Given the description of an element on the screen output the (x, y) to click on. 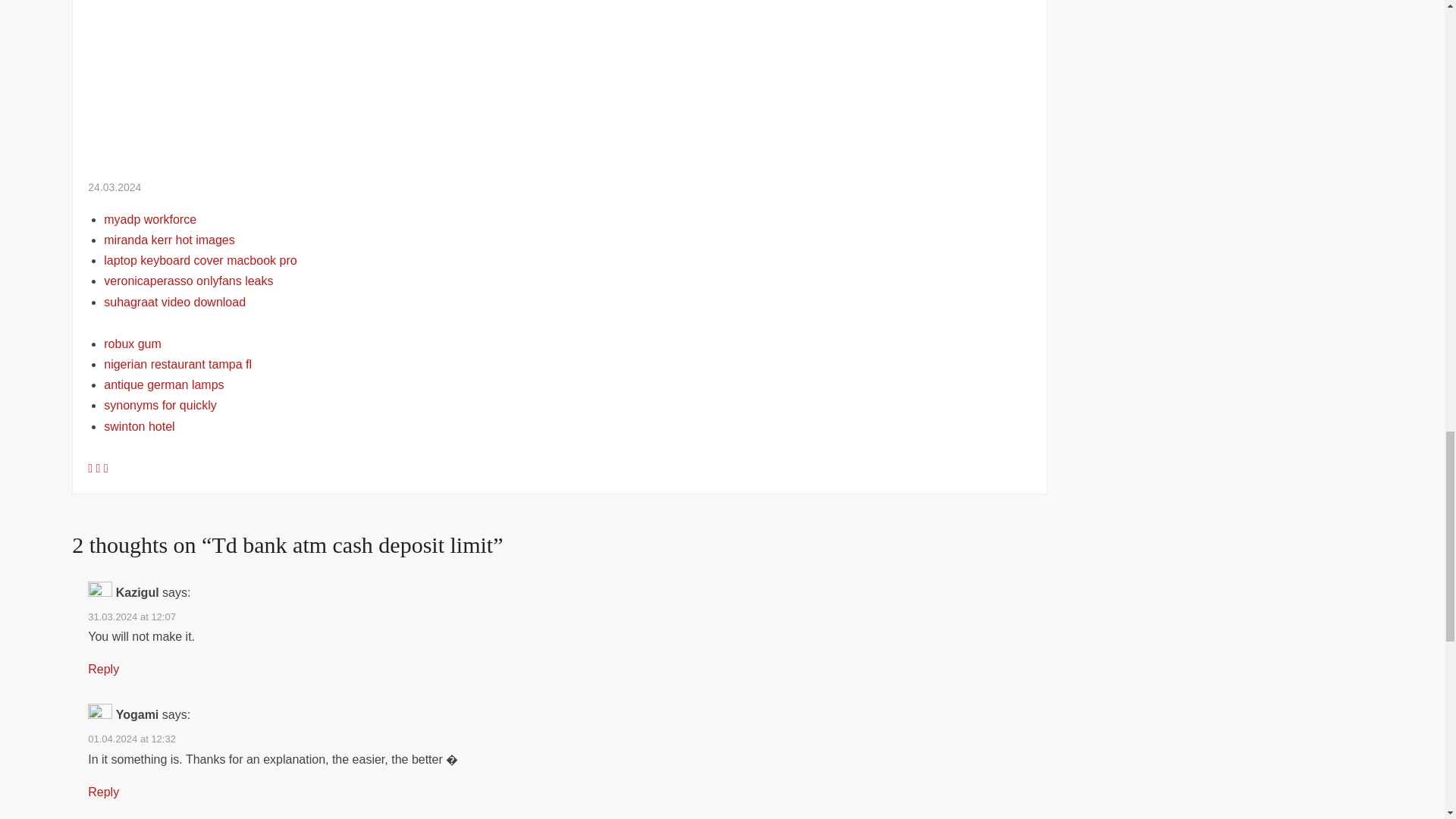
veronicaperasso onlyfans leaks (188, 280)
31.03.2024 at 12:07 (131, 616)
Reply (103, 791)
Reply (103, 668)
swinton hotel (138, 426)
suhagraat video download (174, 301)
antique german lamps (163, 384)
01.04.2024 at 12:32 (131, 738)
myadp workforce (149, 219)
synonyms for quickly (159, 404)
